Given the description of an element on the screen output the (x, y) to click on. 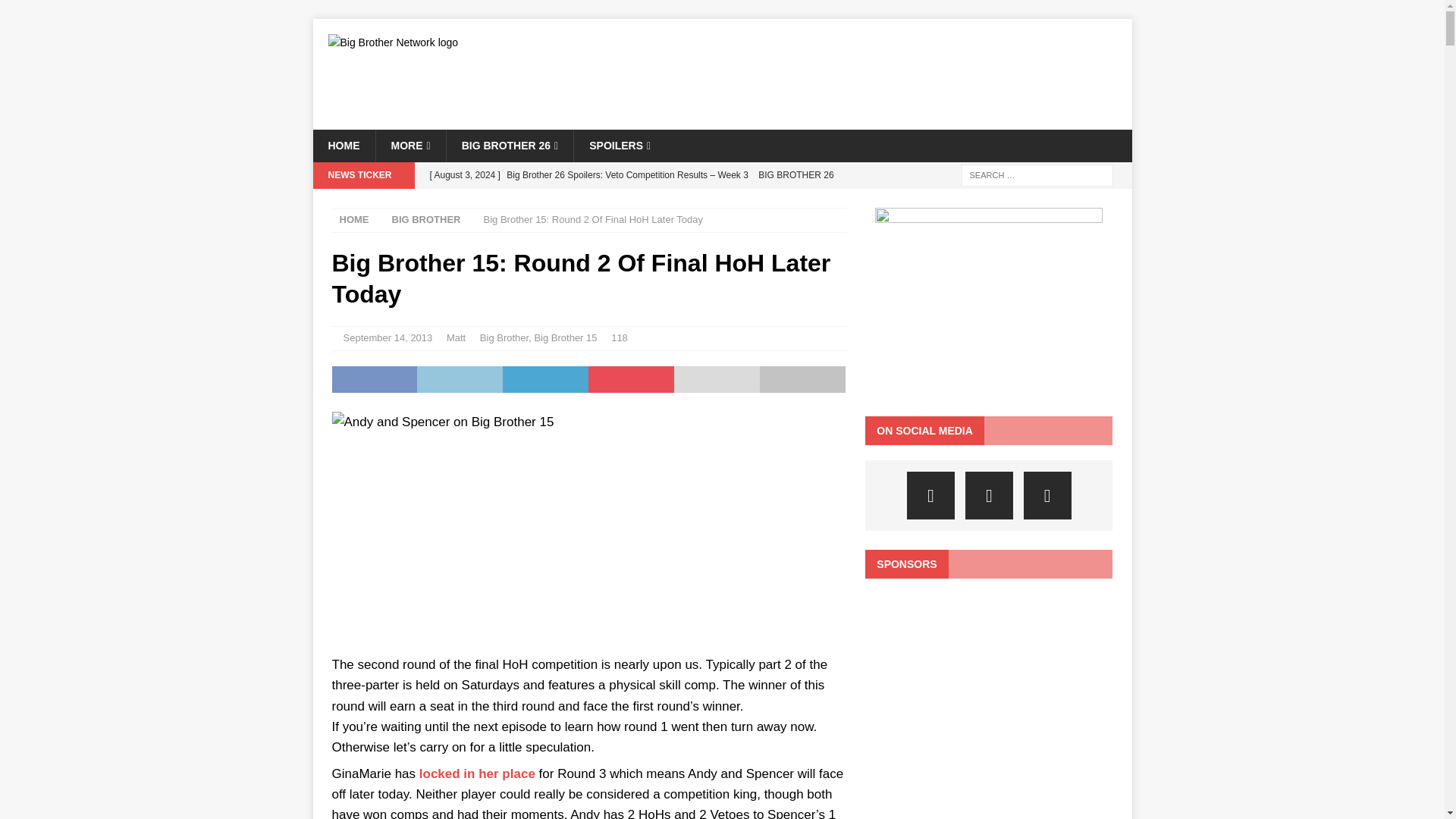
BIG BROTHER 26 (509, 145)
MORE (409, 145)
Big Brother 26 Live Feeds: Power of Veto Plans for Week 3 (632, 200)
HOME (343, 145)
